Given the description of an element on the screen output the (x, y) to click on. 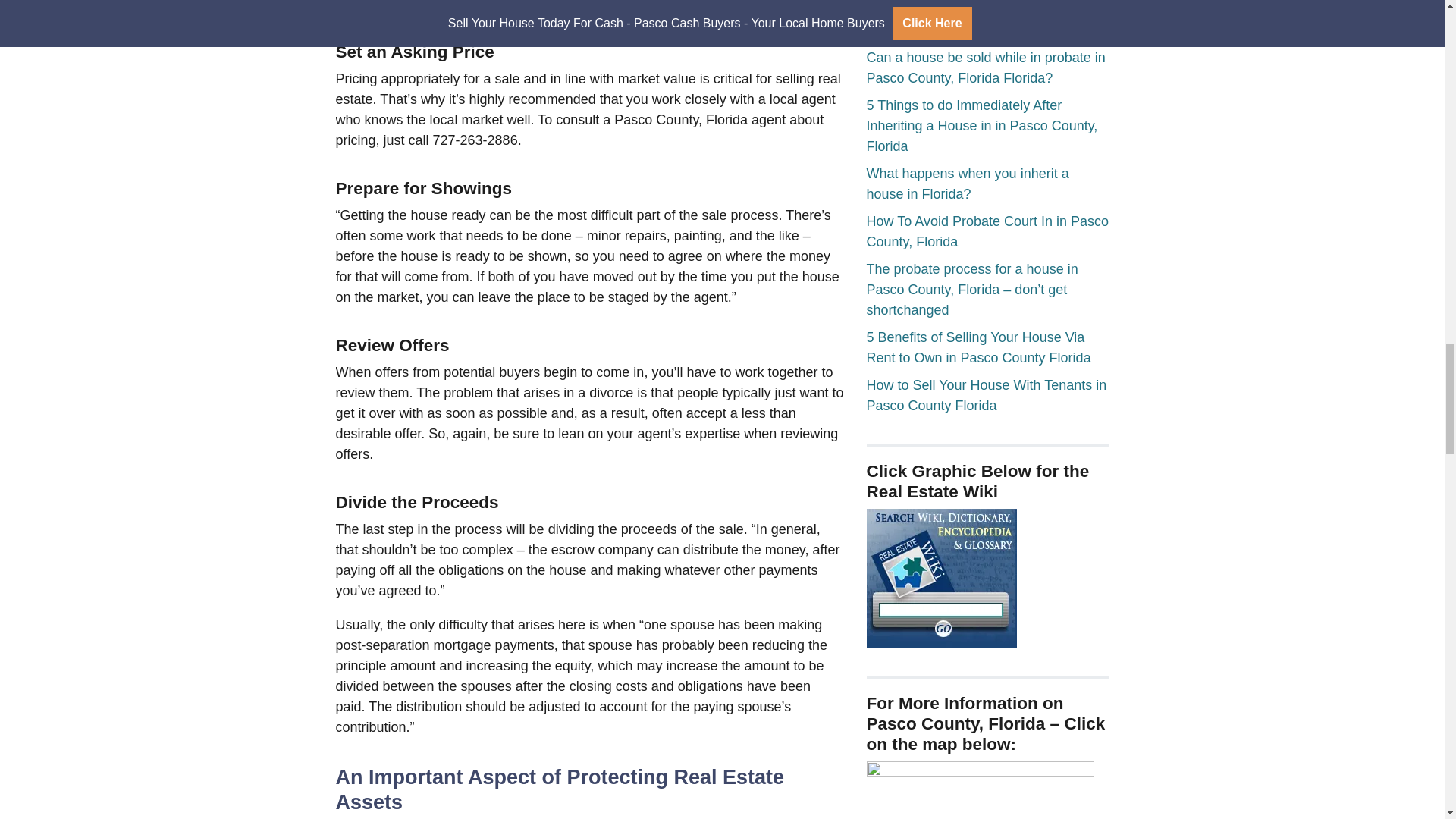
Click Graphic Below for the Real Estate Wiki (941, 577)
